Given the description of an element on the screen output the (x, y) to click on. 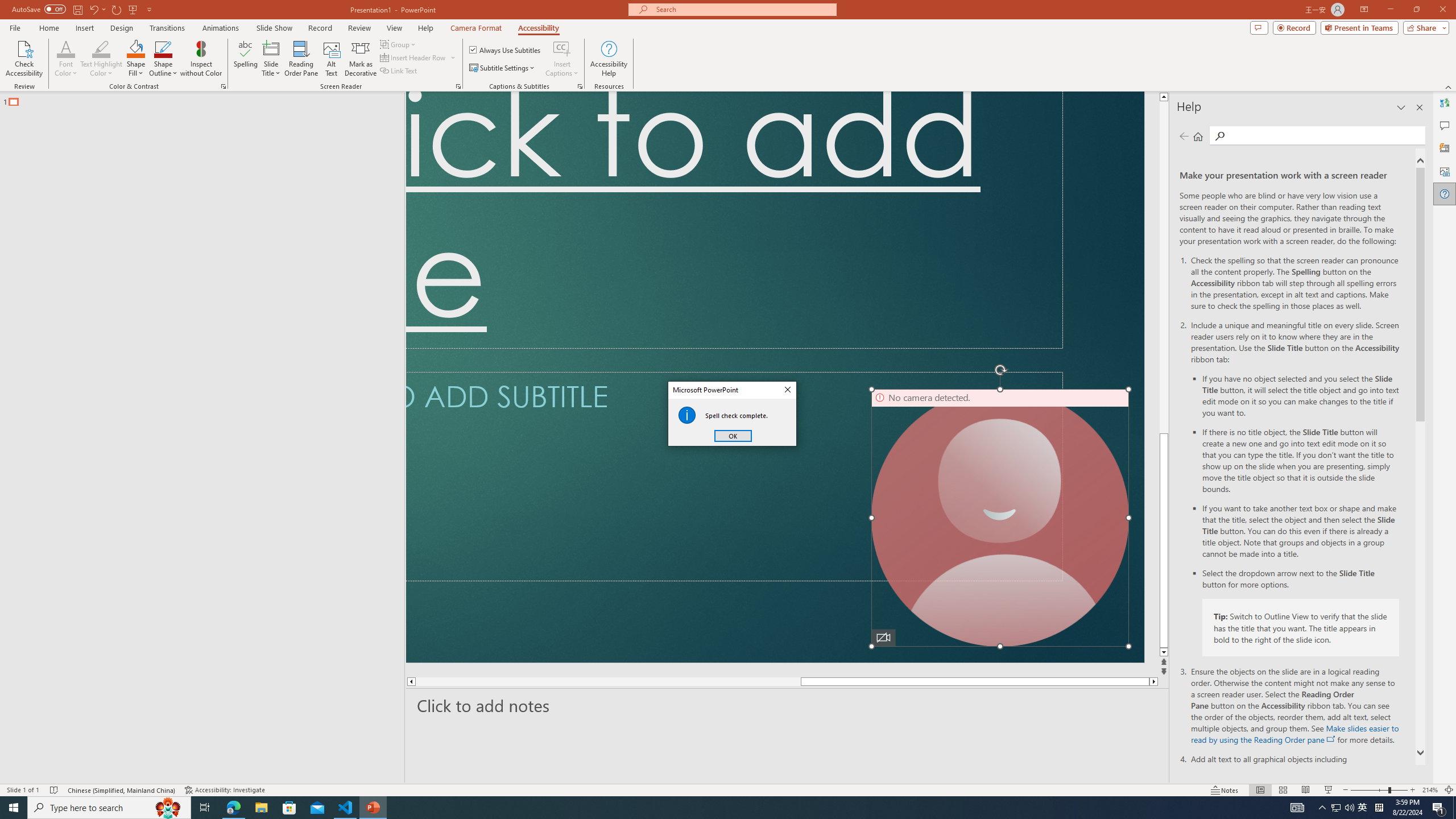
Title TextBox (734, 219)
Outline (207, 99)
